Given the description of an element on the screen output the (x, y) to click on. 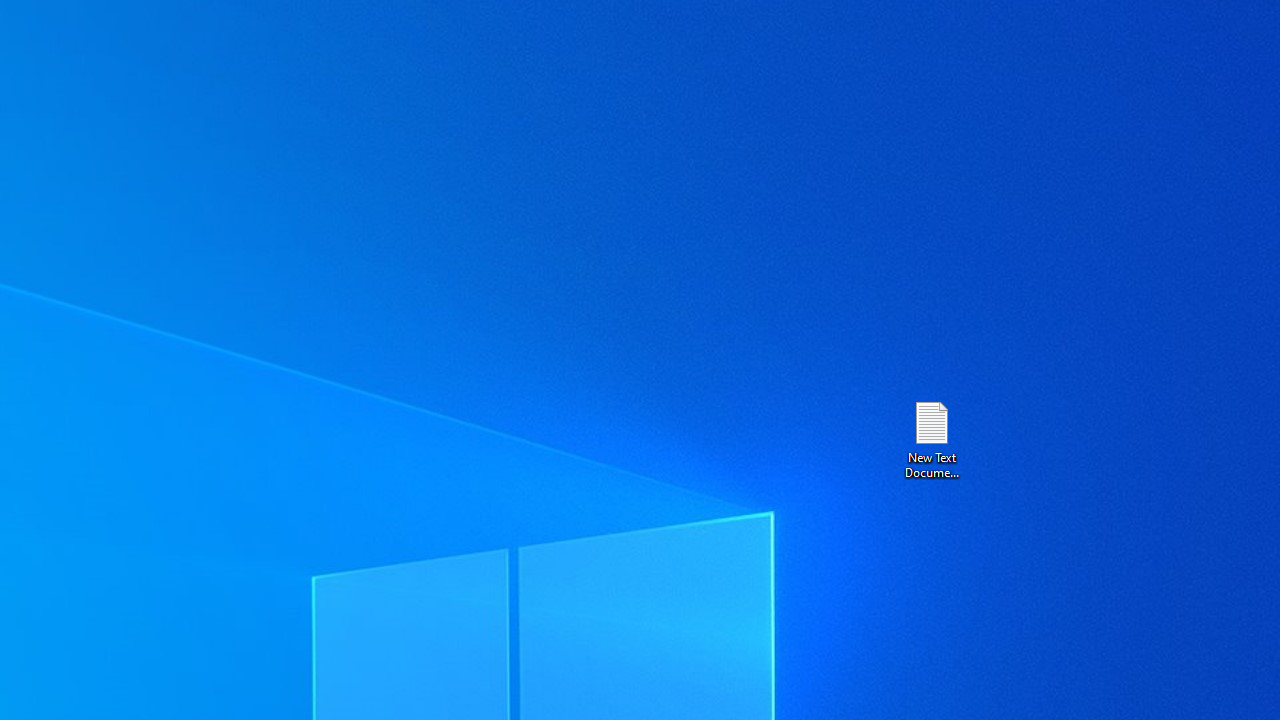
New Text Document (2) (931, 438)
